Given the description of an element on the screen output the (x, y) to click on. 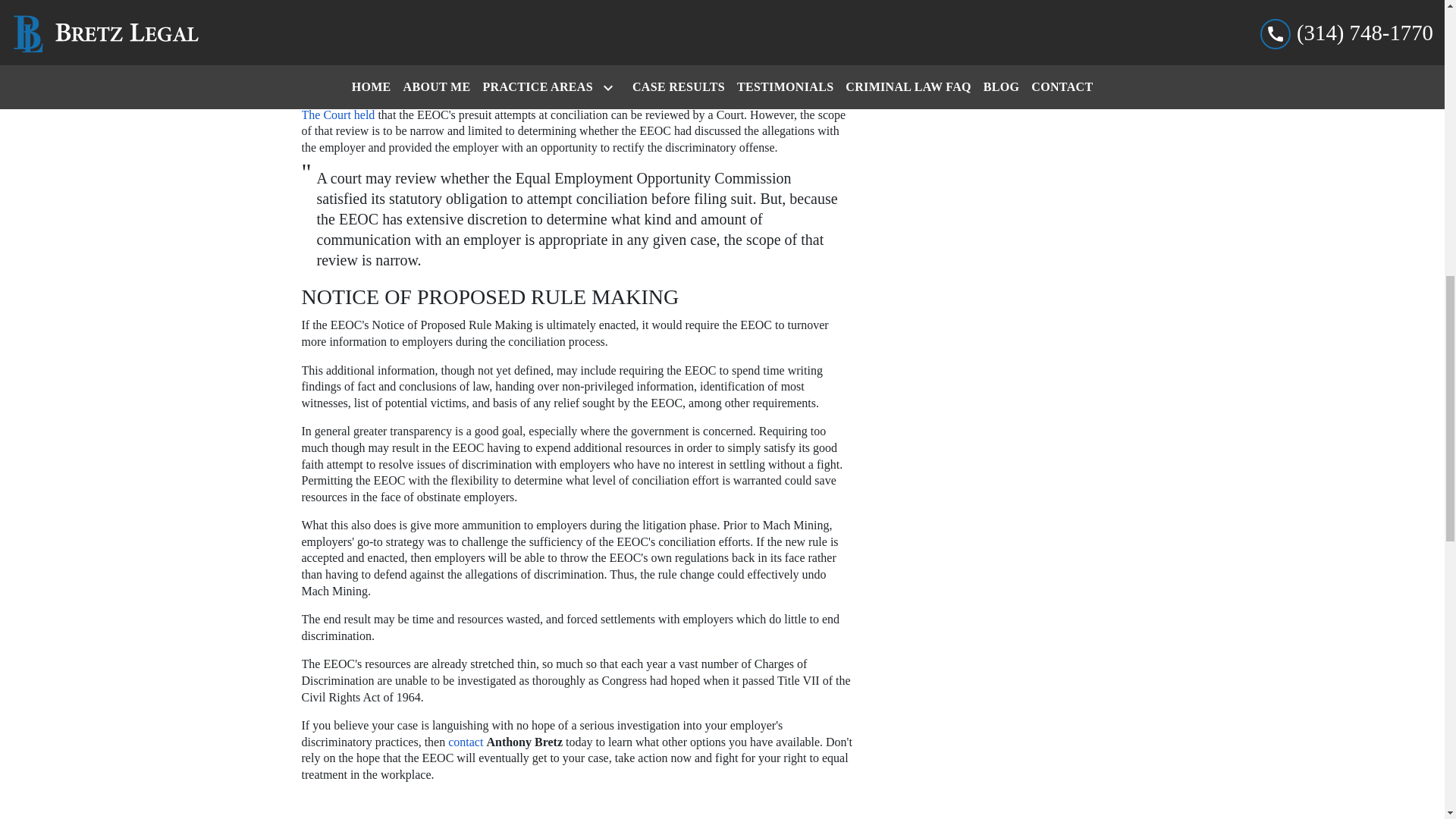
 contact (464, 741)
The Court held (338, 114)
